Given the description of an element on the screen output the (x, y) to click on. 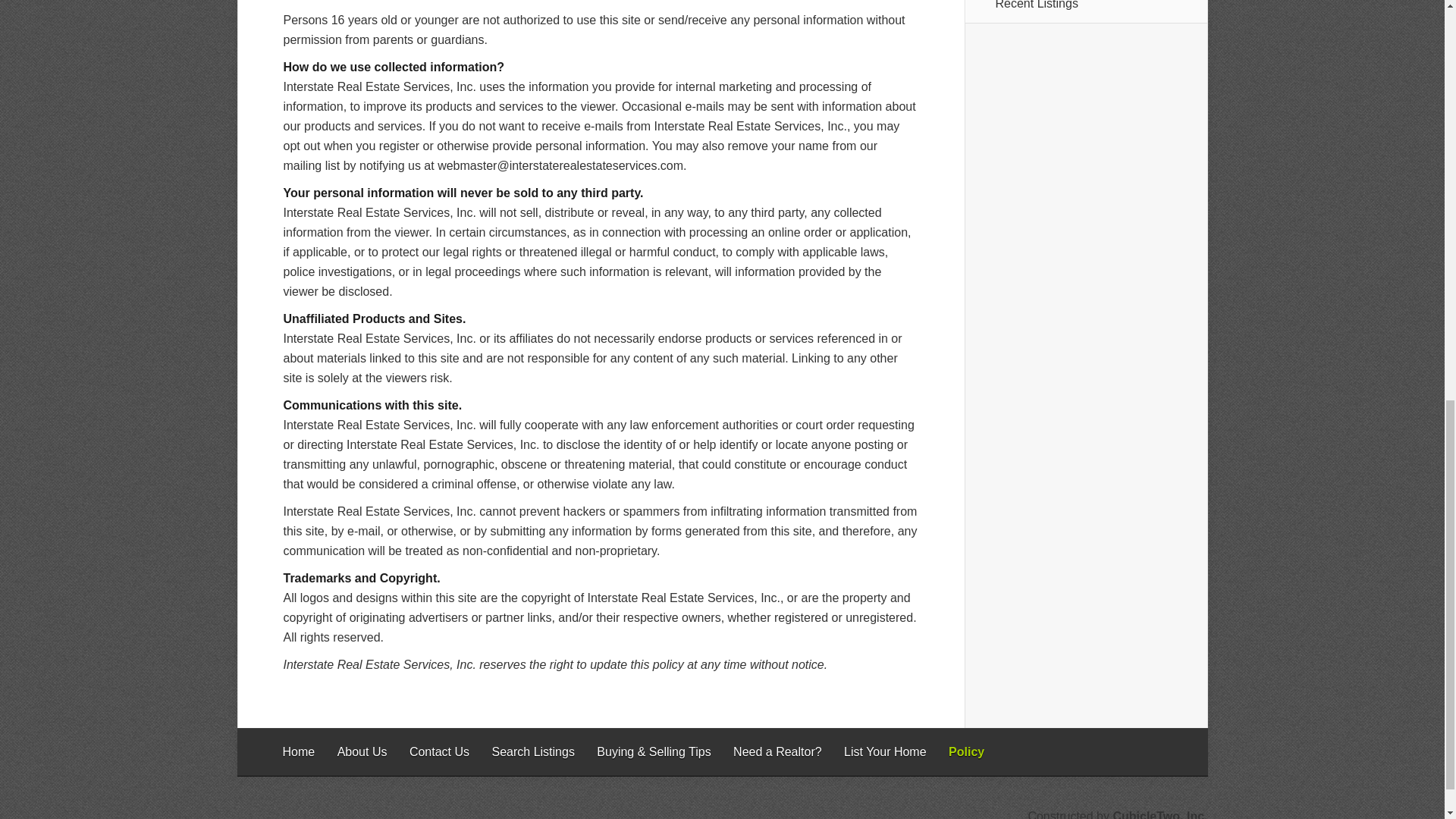
Policy (966, 751)
About Us (362, 751)
Need a Realtor? (777, 751)
CubicleTwo, Inc. (1159, 814)
Home (298, 751)
Contact Us (438, 751)
Search Listings (532, 751)
List Your Home (885, 751)
CubicleTwo, Inc. (1159, 814)
